Given the description of an element on the screen output the (x, y) to click on. 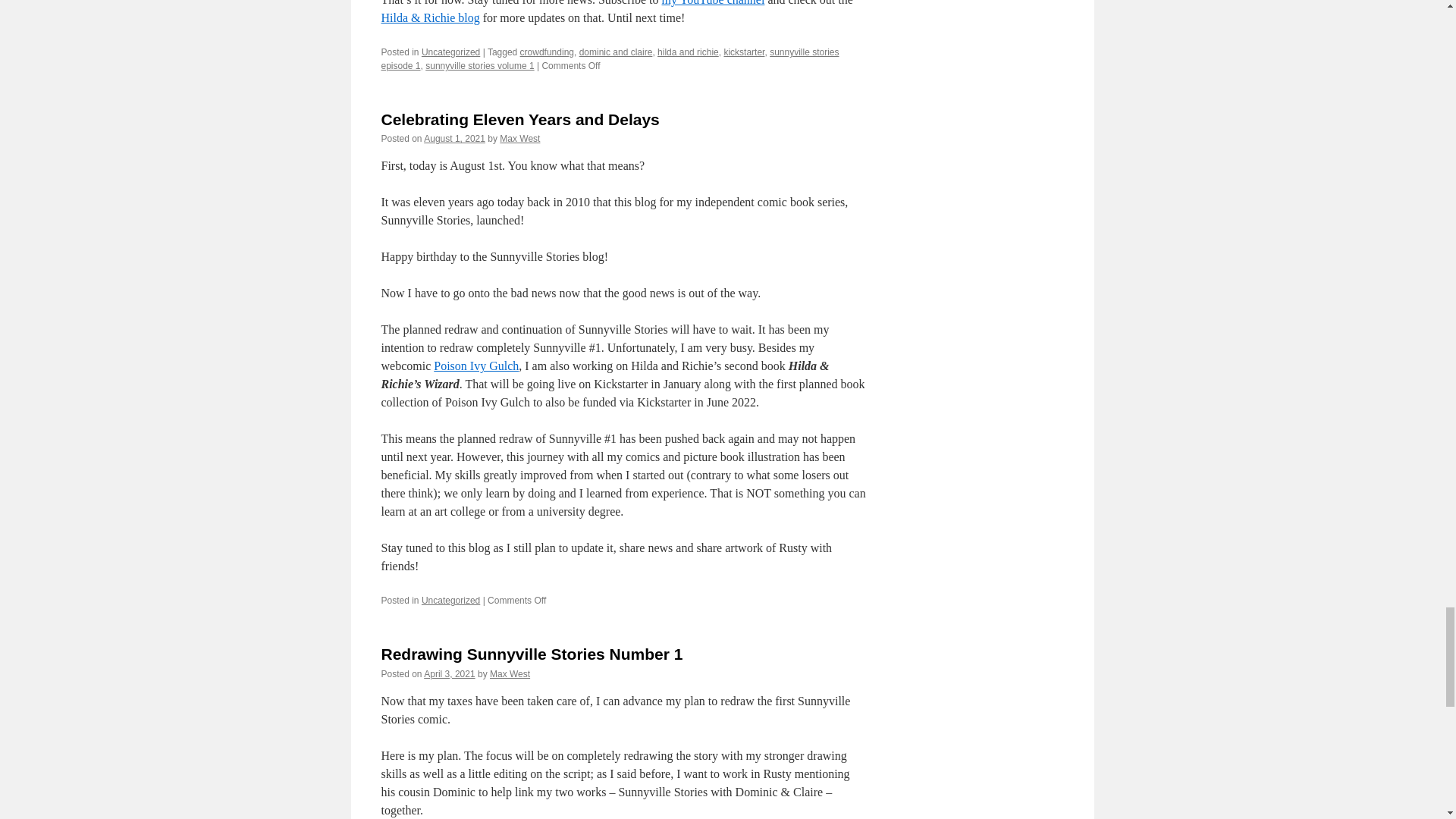
12:06 pm (453, 138)
4:07 pm (448, 674)
View all posts by Max West (519, 138)
